Given the description of an element on the screen output the (x, y) to click on. 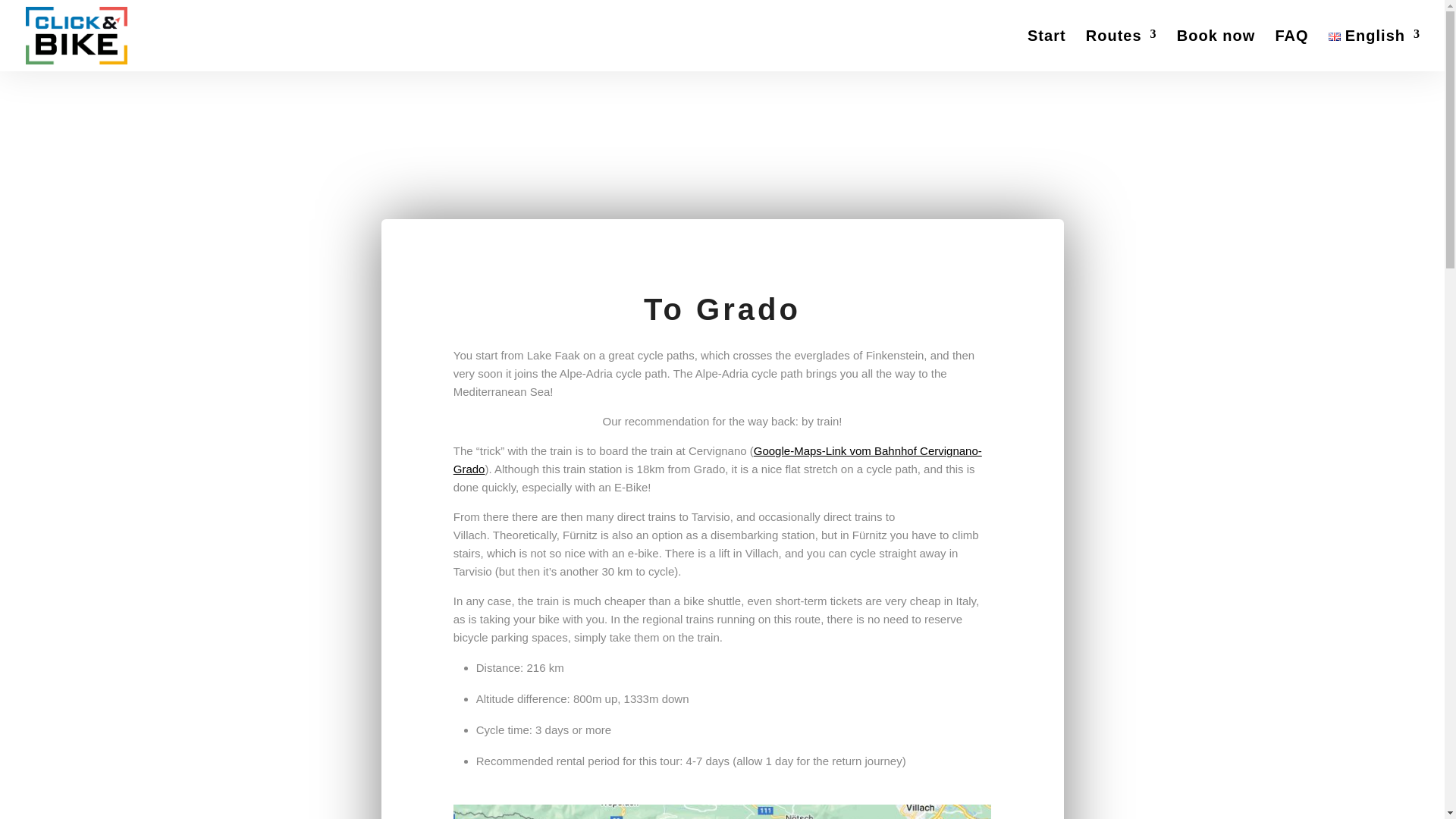
English (1374, 50)
Book now (1215, 50)
Routes (1121, 50)
Google-Maps-Link vom Bahnhof Cervignano-Grado (716, 459)
Karte Faaker See Grado (721, 811)
Start (1046, 50)
